Given the description of an element on the screen output the (x, y) to click on. 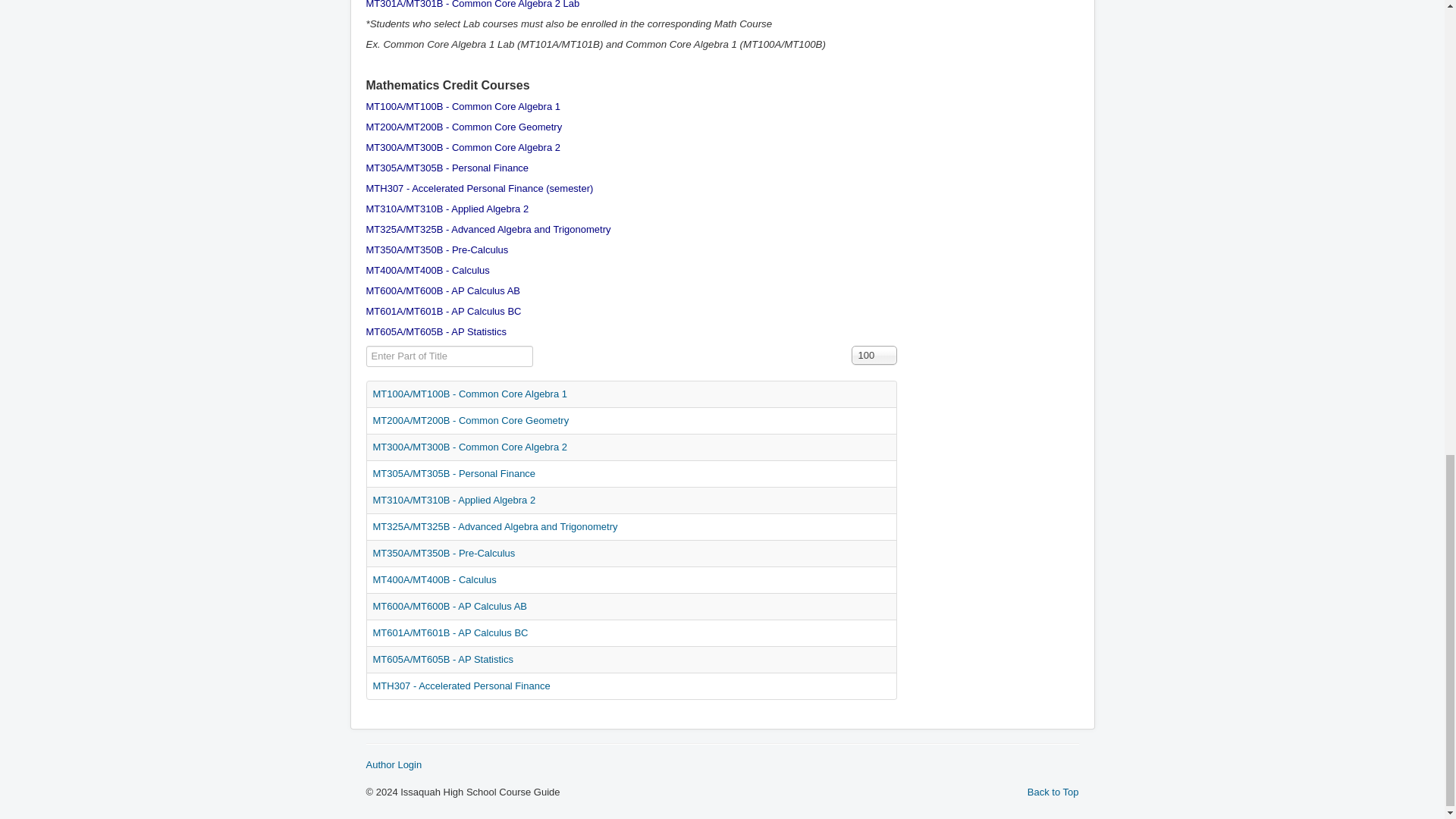
100 (873, 354)
MTH307 - Accelerated Personal Finance (454, 188)
MTH307 - Accelerated Personal Finance (461, 685)
Enter all or part of the title to search for. (448, 355)
